Given the description of an element on the screen output the (x, y) to click on. 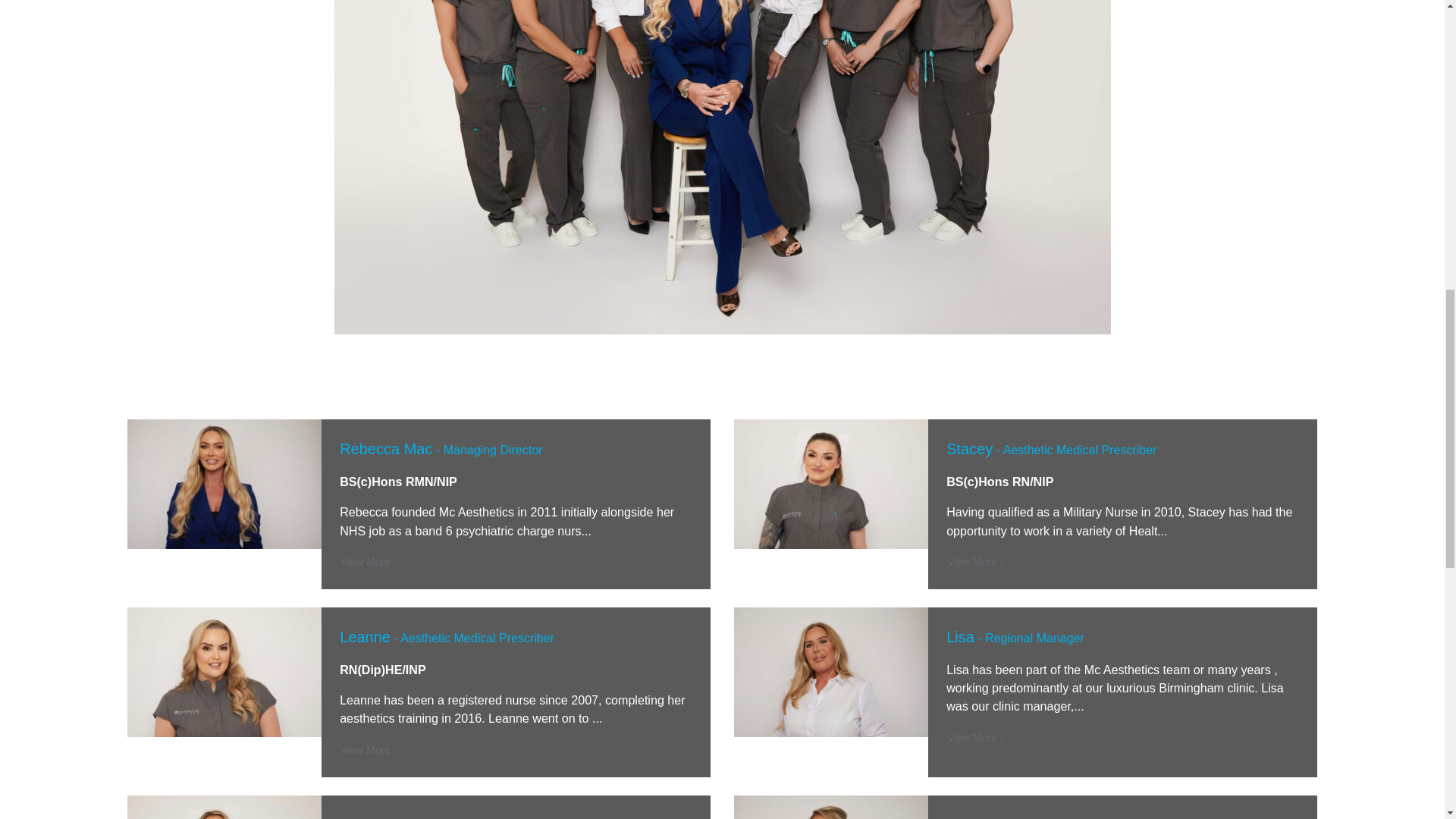
View More (368, 750)
View More (975, 561)
View More (368, 561)
View More (975, 737)
